Given the description of an element on the screen output the (x, y) to click on. 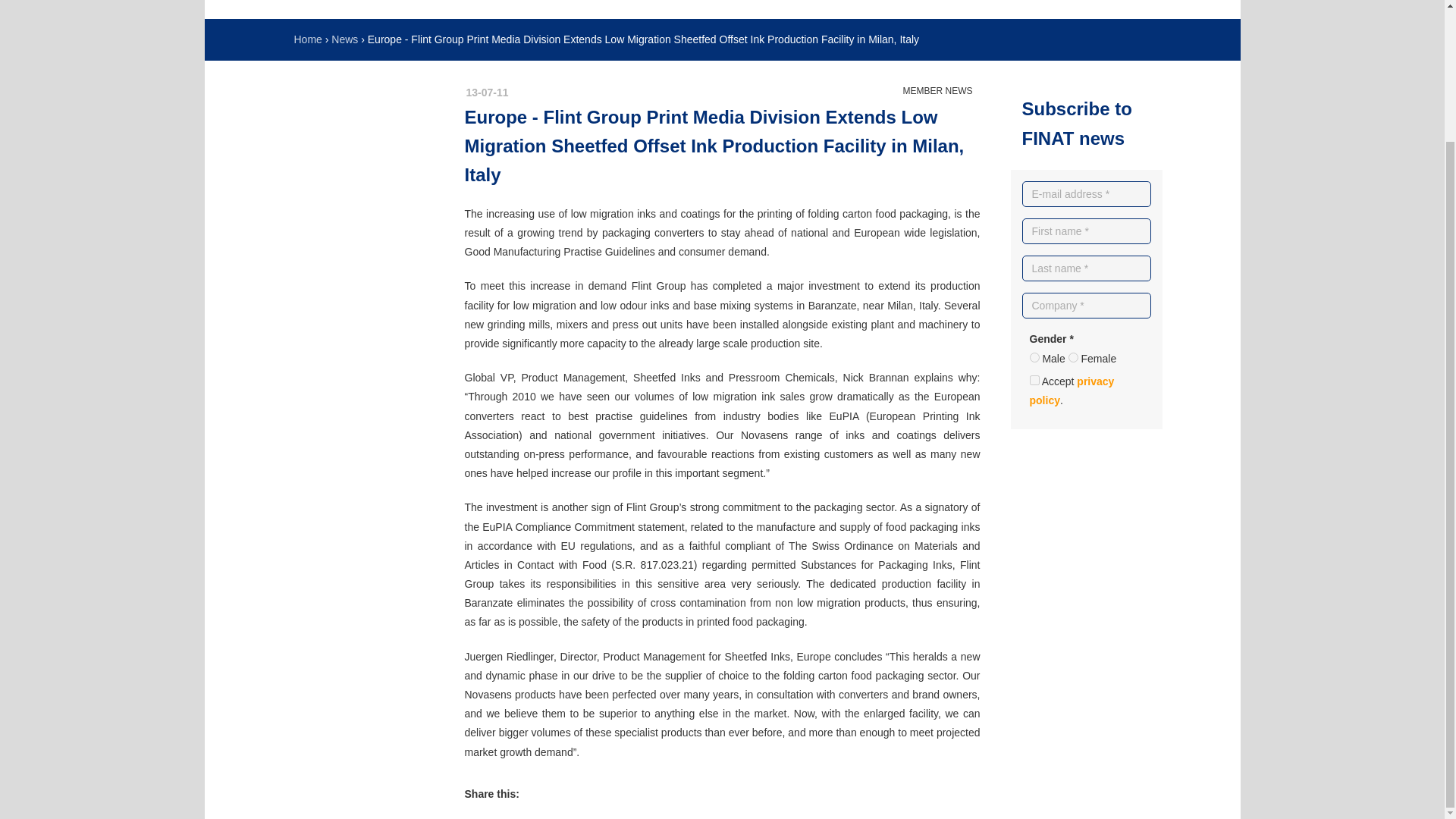
vrouw (1073, 357)
1 (1034, 379)
man (1034, 357)
